Given the description of an element on the screen output the (x, y) to click on. 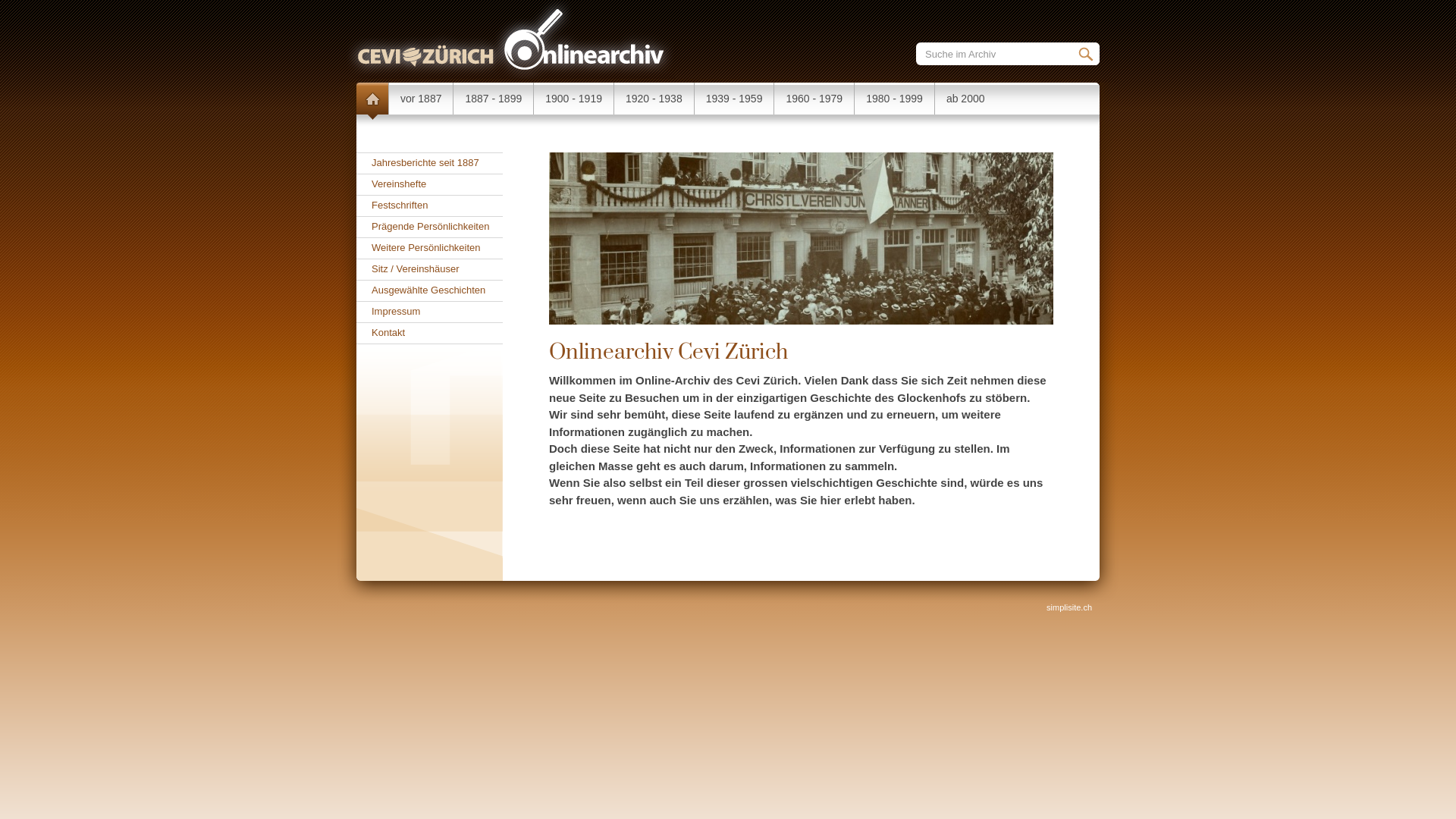
1939 - 1959 Element type: text (733, 98)
1920 - 1938 Element type: text (653, 98)
1887 - 1899 Element type: text (492, 98)
Festschriften Element type: text (429, 205)
1960 - 1979 Element type: text (813, 98)
1900 - 1919 Element type: text (573, 98)
vor 1887 Element type: text (420, 98)
Kontakt Element type: text (429, 332)
Jahresberichte seit 1887 Element type: text (429, 162)
Impressum Element type: text (429, 311)
Vereinshefte Element type: text (429, 184)
simplisite.ch Element type: text (1069, 606)
ab 2000 Element type: text (965, 98)
1980 - 1999 Element type: text (893, 98)
